Given the description of an element on the screen output the (x, y) to click on. 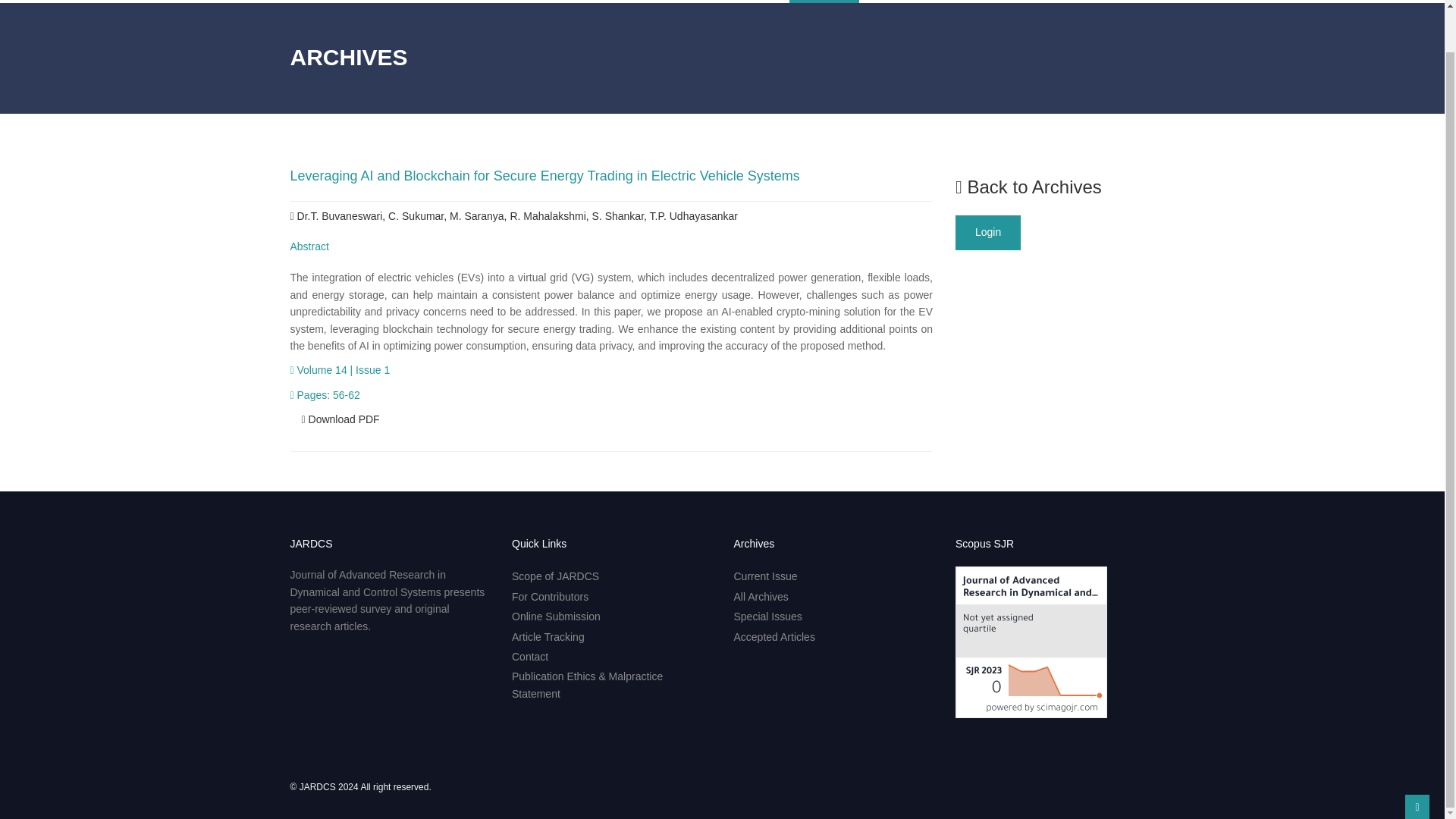
Accepted Articles (774, 636)
HOME (590, 1)
FOR CONTRIBUTORS (736, 1)
Online Submission (555, 616)
Scope of JARDCS (555, 576)
Special Issues (767, 616)
CONTACT (1093, 1)
Download PDF (340, 419)
ONLINE SUBMISSION (911, 1)
For Contributors (550, 596)
